Given the description of an element on the screen output the (x, y) to click on. 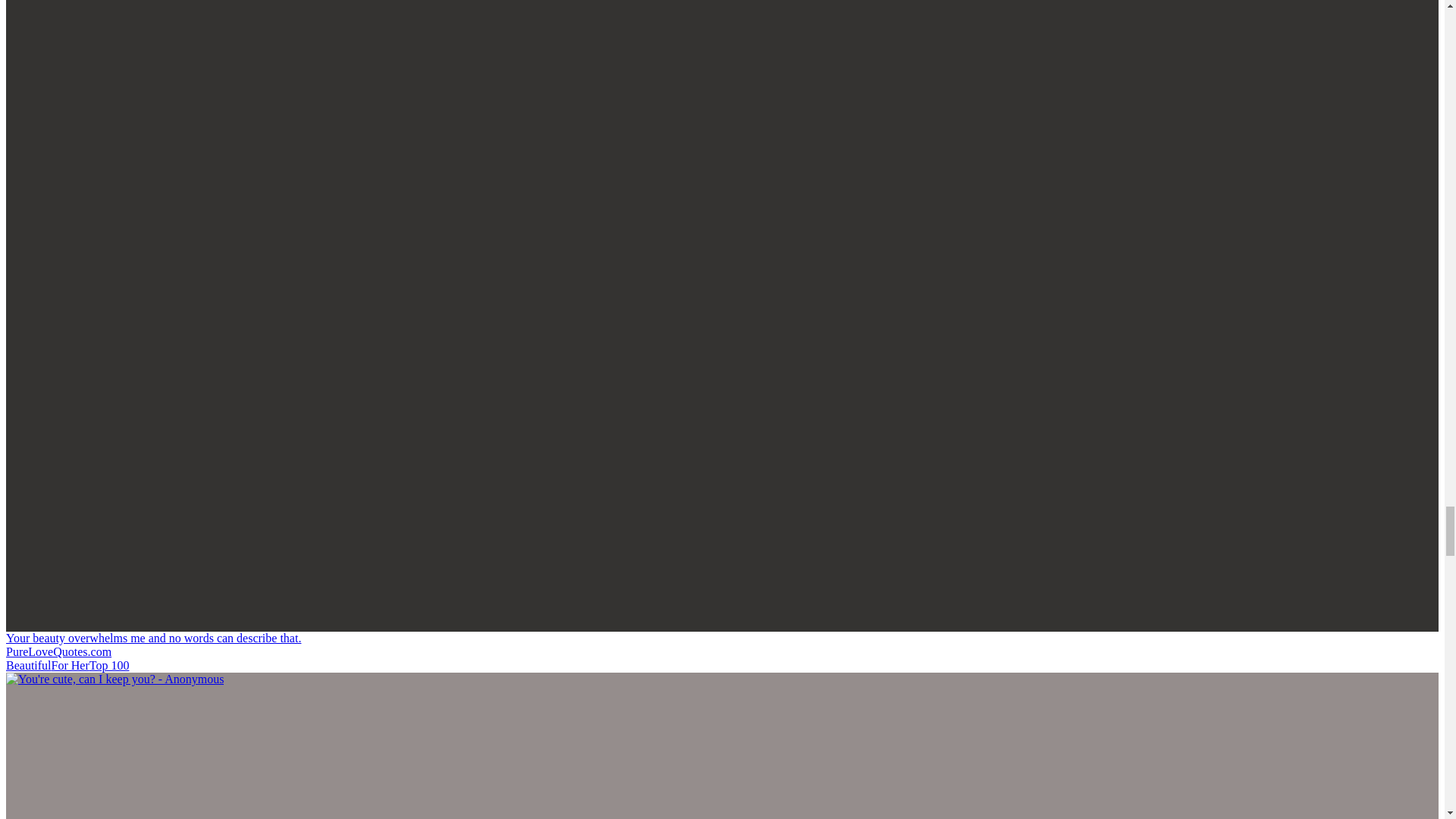
see quote (114, 678)
see quote (153, 637)
